Given the description of an element on the screen output the (x, y) to click on. 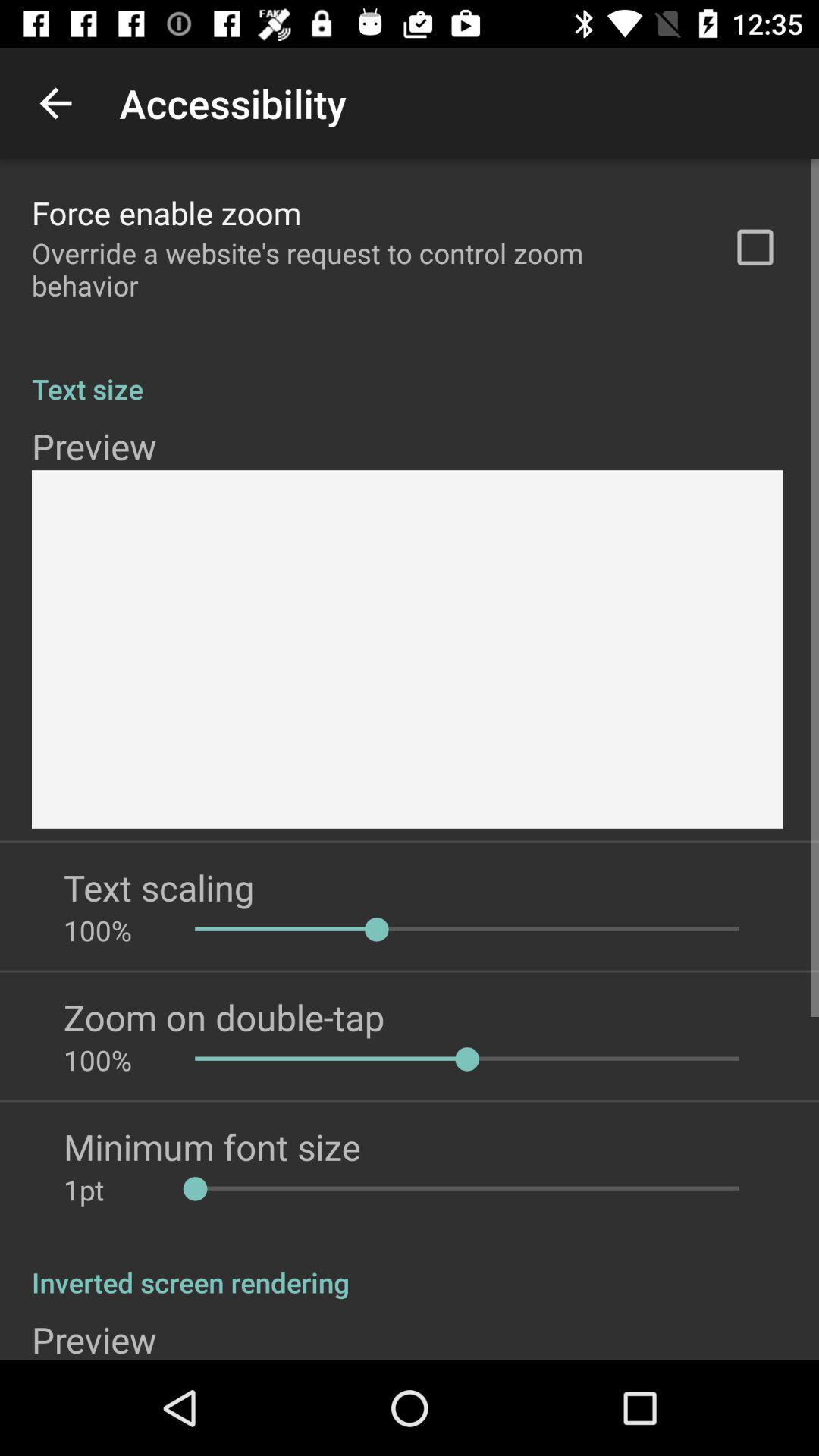
click the item to the left of the accessibility (55, 103)
